Given the description of an element on the screen output the (x, y) to click on. 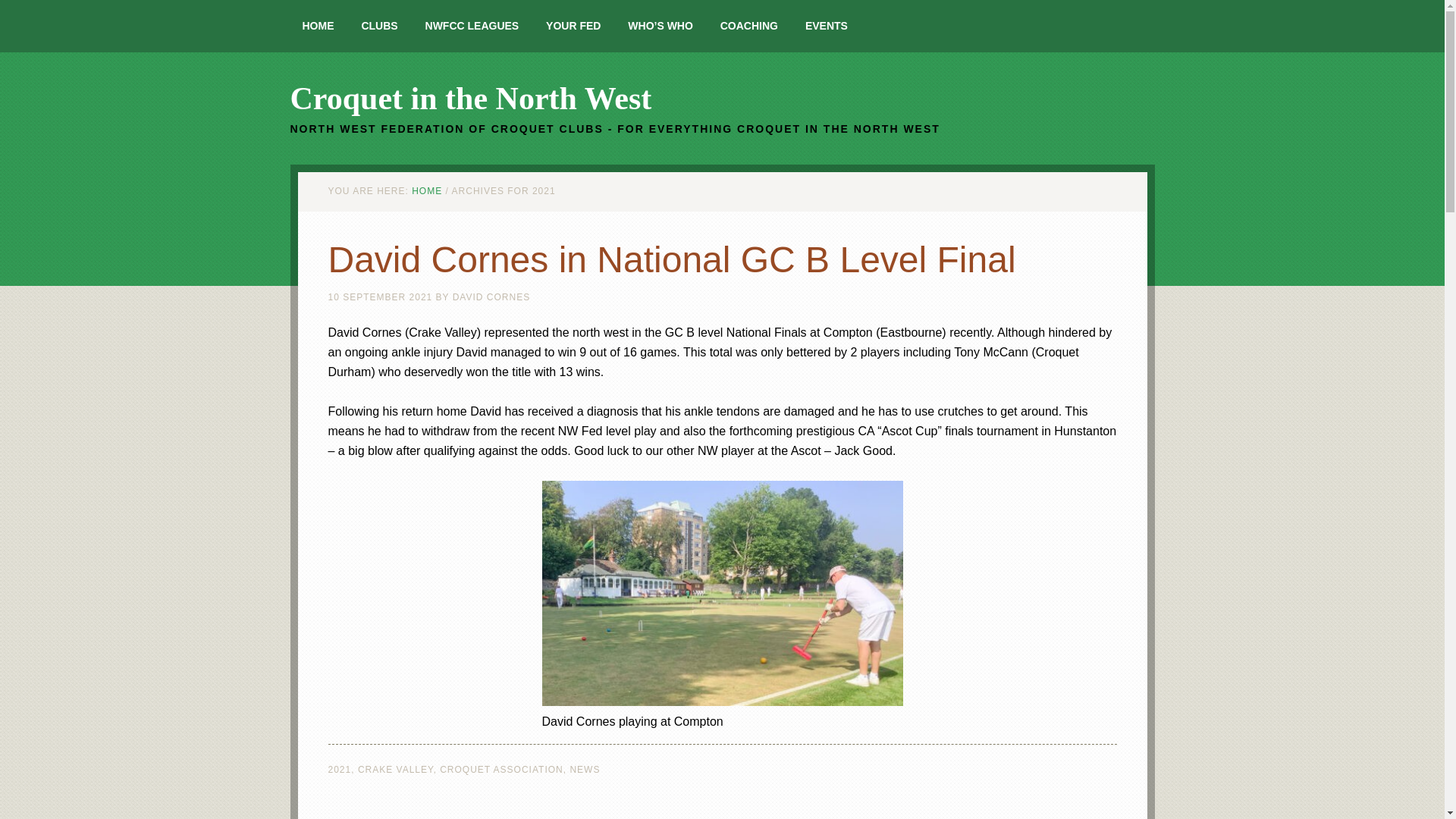
Croquet in the North West (469, 98)
DAVID CORNES (490, 296)
David Cornes in National GC B Level Final (670, 259)
CLUBS (379, 26)
CROQUET ASSOCIATION (501, 769)
NWFCC LEAGUES (472, 26)
YOUR FED (573, 26)
2021 (338, 769)
HOME (427, 190)
COACHING (748, 26)
NEWS (584, 769)
CRAKE VALLEY (395, 769)
EVENTS (826, 26)
HOME (317, 26)
